Given the description of an element on the screen output the (x, y) to click on. 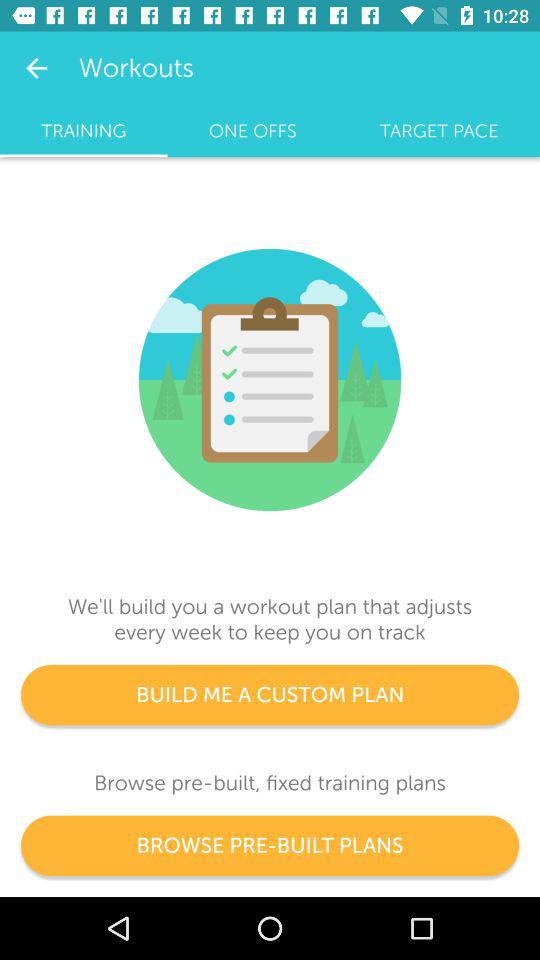
choose icon to the left of target pace icon (252, 131)
